Given the description of an element on the screen output the (x, y) to click on. 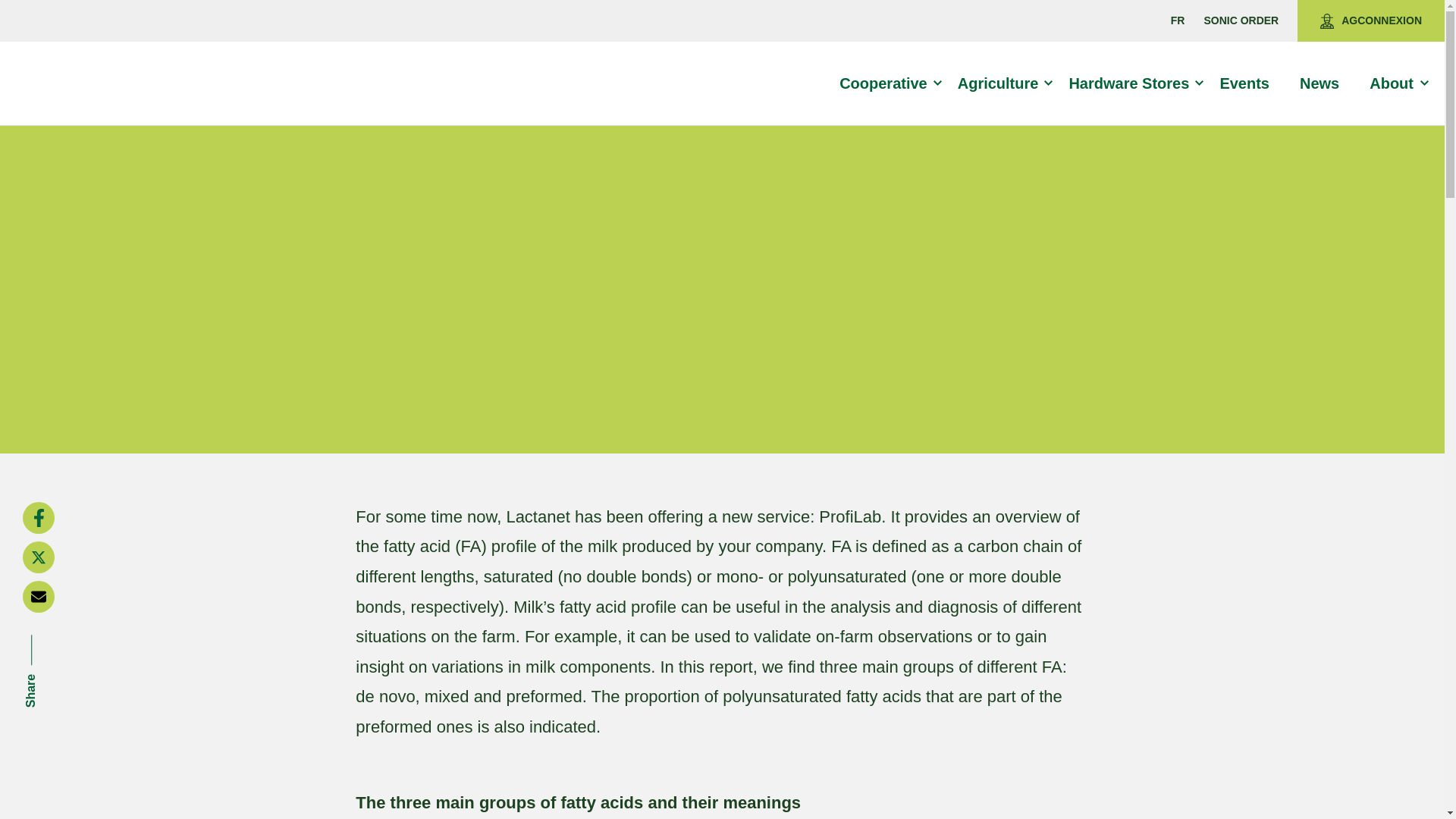
Events (1251, 83)
FR (1177, 20)
Cooperative (890, 83)
Fr (1177, 20)
News (1326, 83)
Agriculture (1004, 83)
About (1398, 83)
Hardware Stores (1135, 83)
SONIC ORDER (1241, 20)
